Given the description of an element on the screen output the (x, y) to click on. 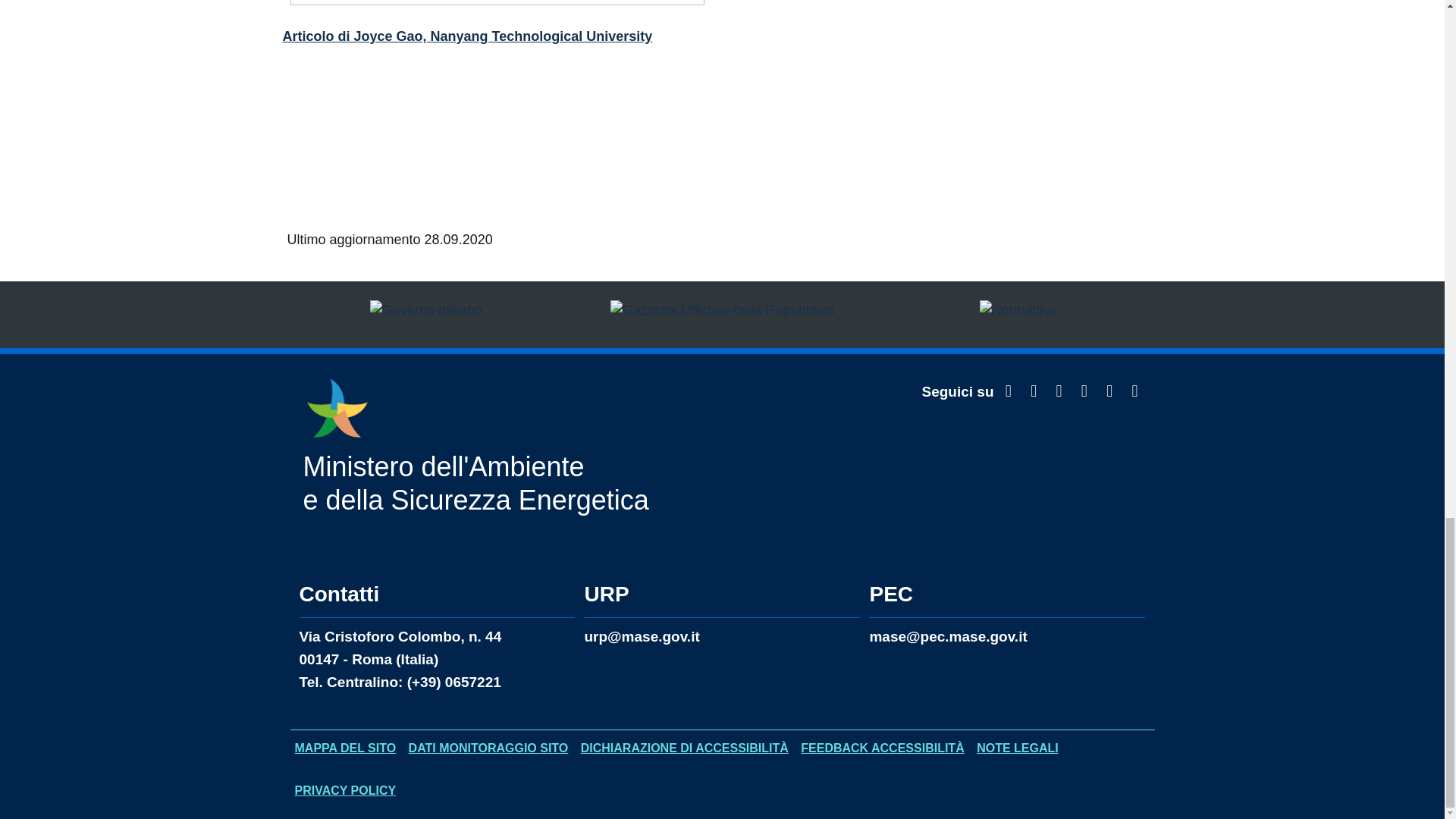
Gazzetta Ufficiale della Repubblica (721, 313)
Articolo di Joyce Gao, Nanyang Technological University (467, 36)
Fonte immagine: www.connect4climate.org (496, 2)
Normattiva (1018, 313)
Governo Italiano (425, 313)
Twitter MASE (1008, 391)
Share to Twitter (325, 169)
Share to Facebook (296, 169)
